Given the description of an element on the screen output the (x, y) to click on. 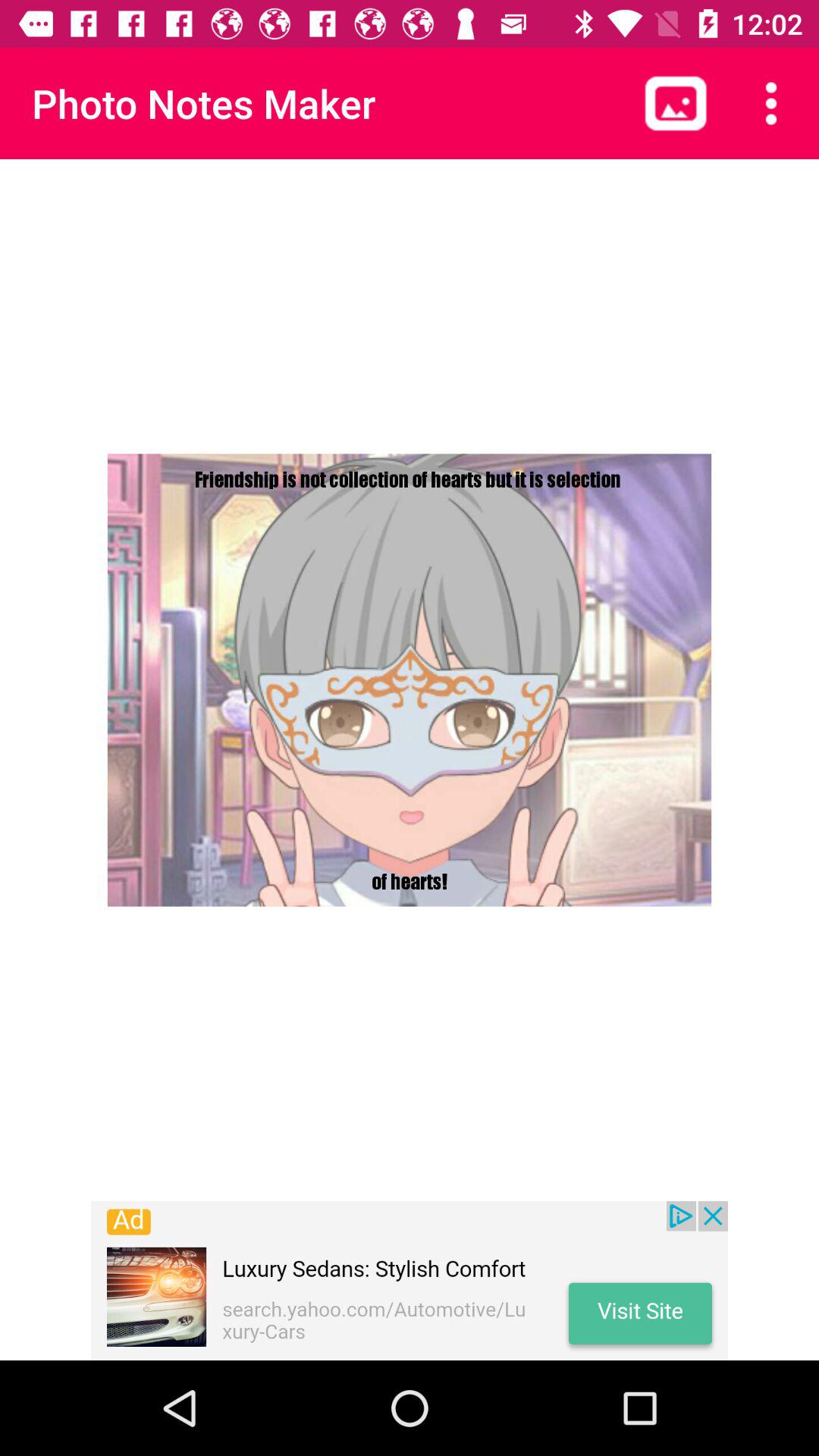
click to customize (771, 103)
